Given the description of an element on the screen output the (x, y) to click on. 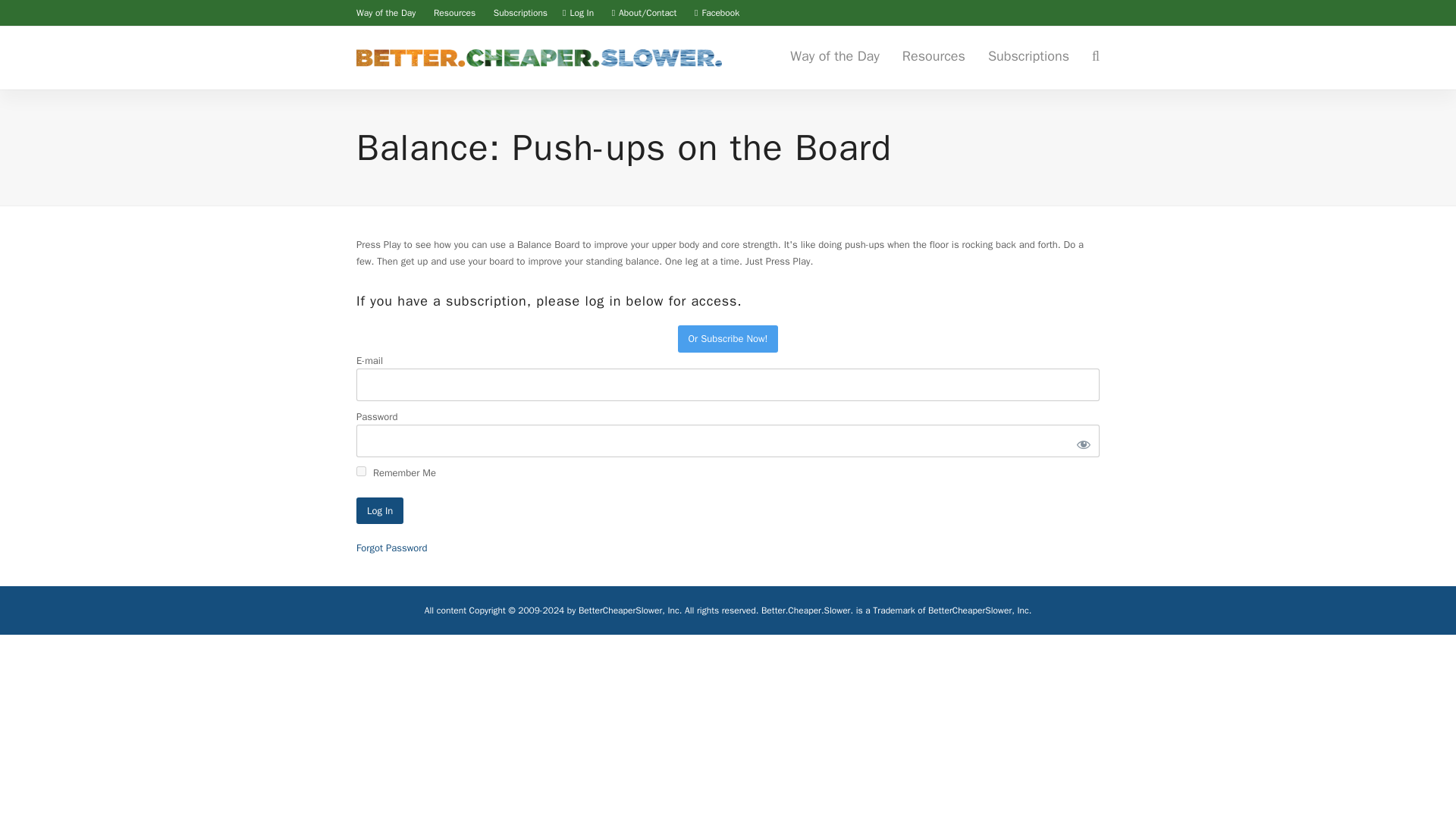
Forgot Password (391, 547)
Log In (379, 510)
Resources (454, 12)
Facebook (709, 12)
Subscriptions (520, 12)
Way of the Day (385, 12)
Subscriptions (1028, 57)
Log In (581, 12)
Way of the Day (834, 57)
Log In (379, 510)
